Given the description of an element on the screen output the (x, y) to click on. 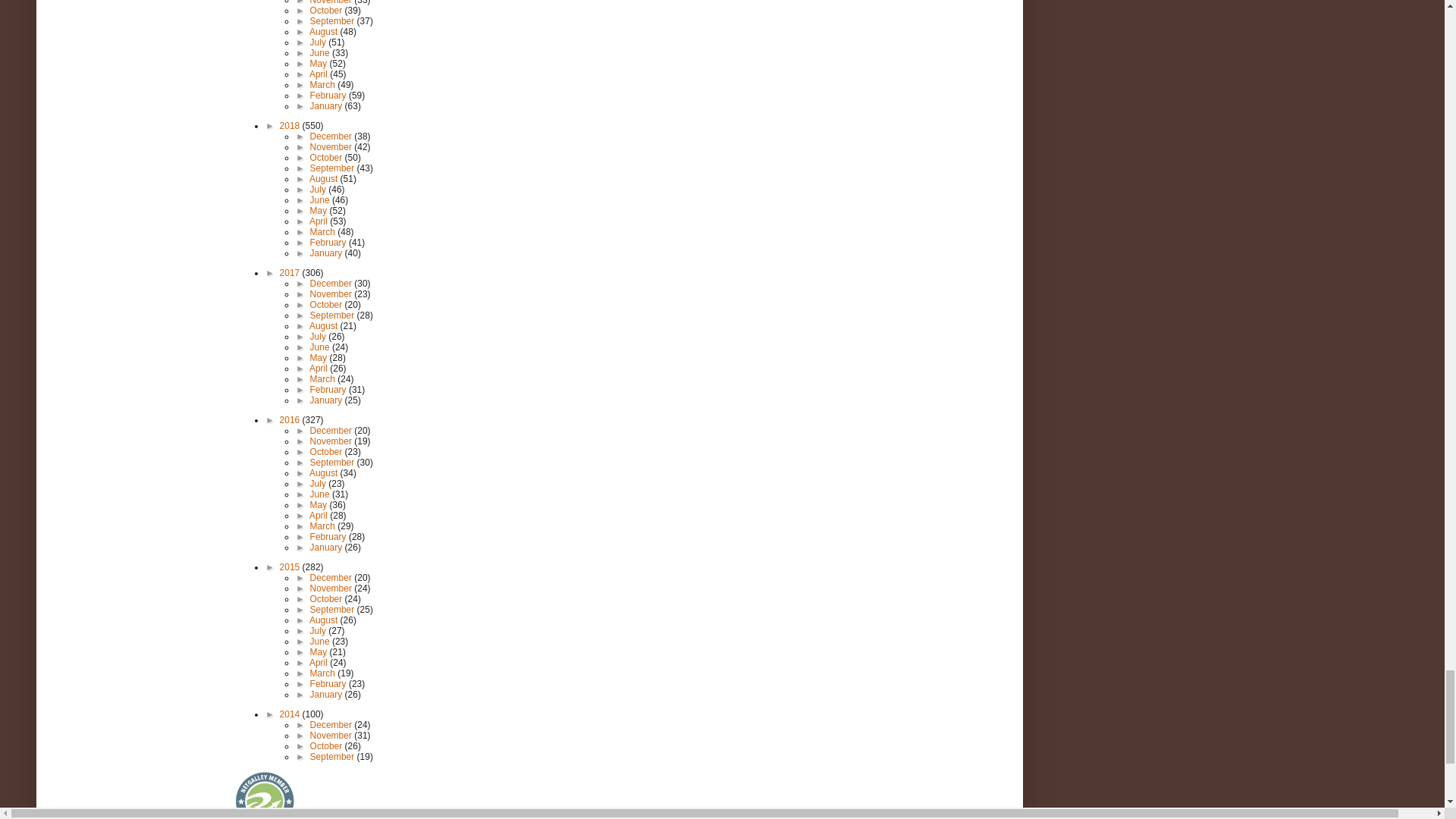
Professional Reader (264, 795)
